Given the description of an element on the screen output the (x, y) to click on. 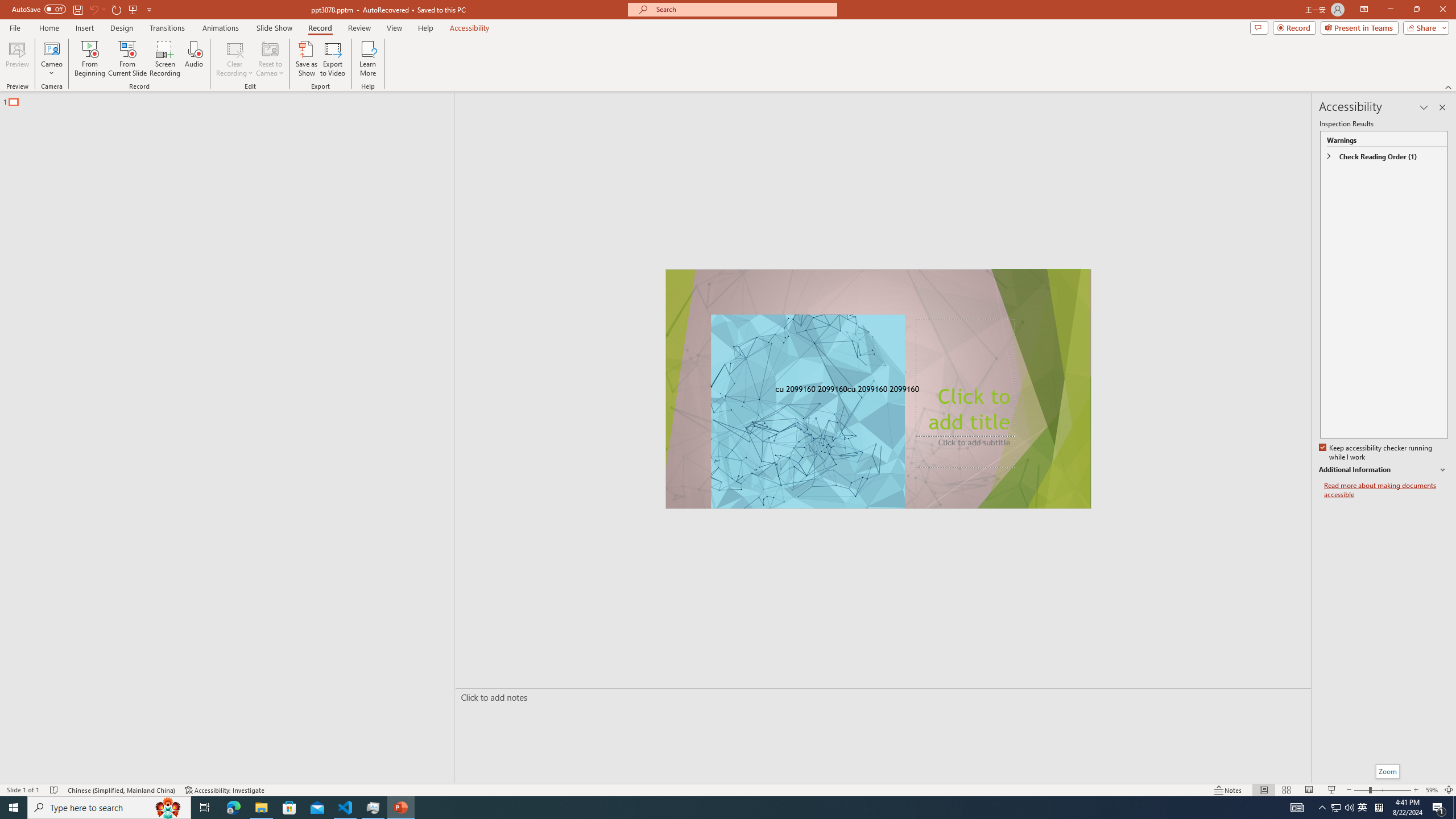
An abstract genetic concept (877, 388)
